Given the description of an element on the screen output the (x, y) to click on. 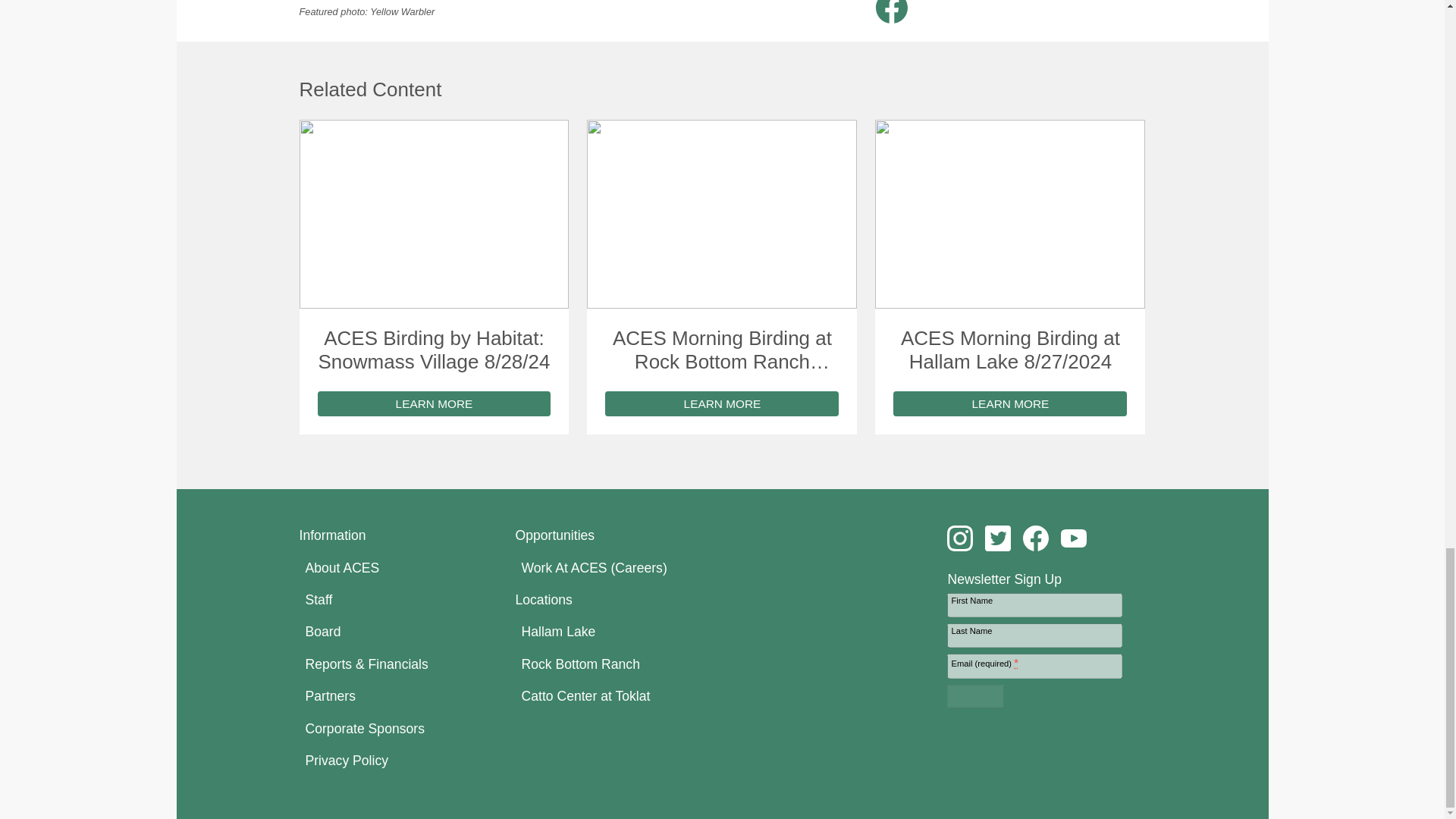
Sign up (975, 696)
Screen Shot 2023-08-03 at 2.28.20 PM (433, 213)
turkey vulture (721, 213)
